Given the description of an element on the screen output the (x, y) to click on. 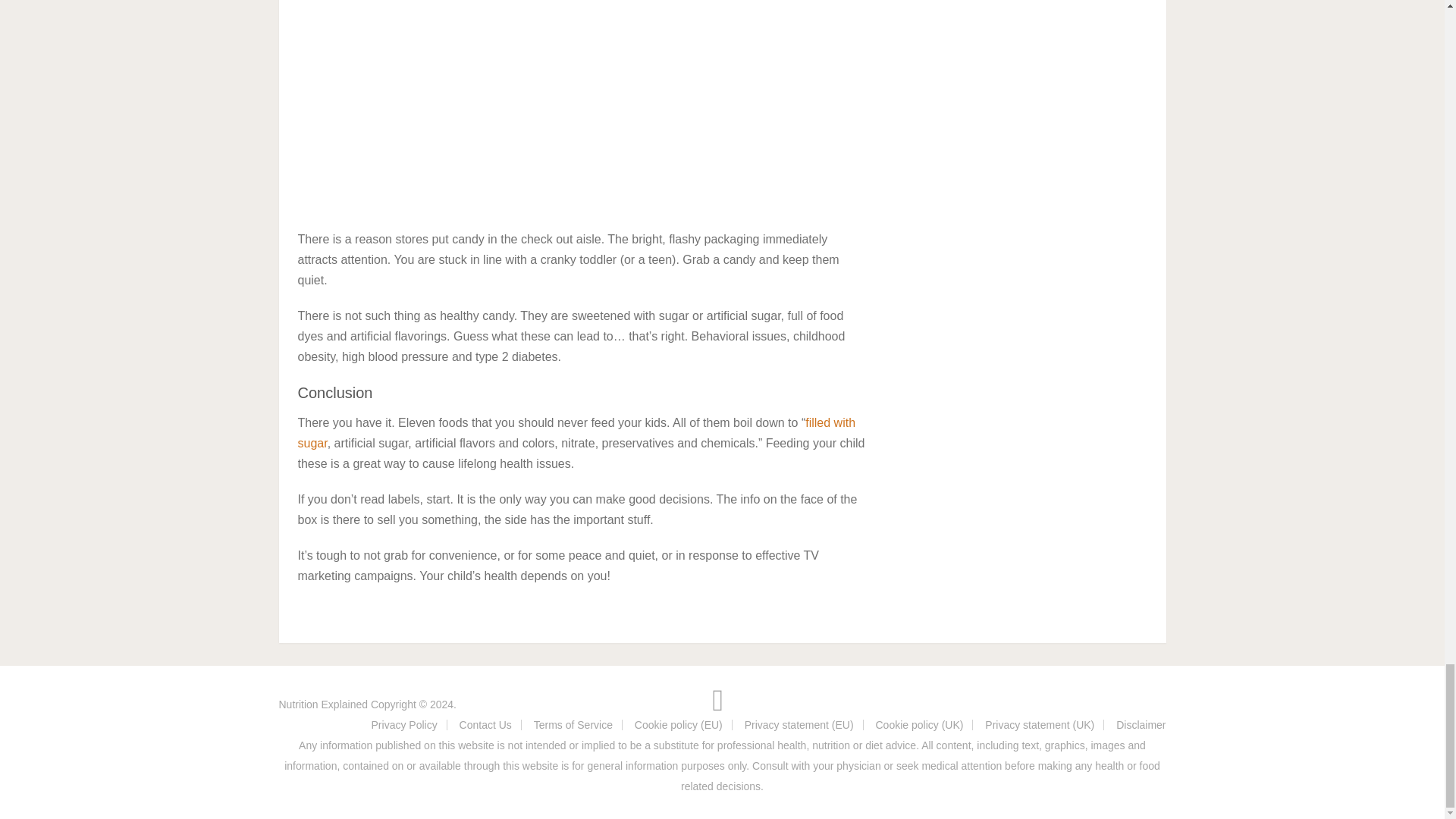
 Eat Better. Feel Better. (323, 704)
Contact Us (486, 725)
Privacy Policy (404, 725)
filled with sugar (576, 432)
Terms of Service (573, 725)
Disclaimer (1141, 725)
Nutrition Explained (323, 704)
